Given the description of an element on the screen output the (x, y) to click on. 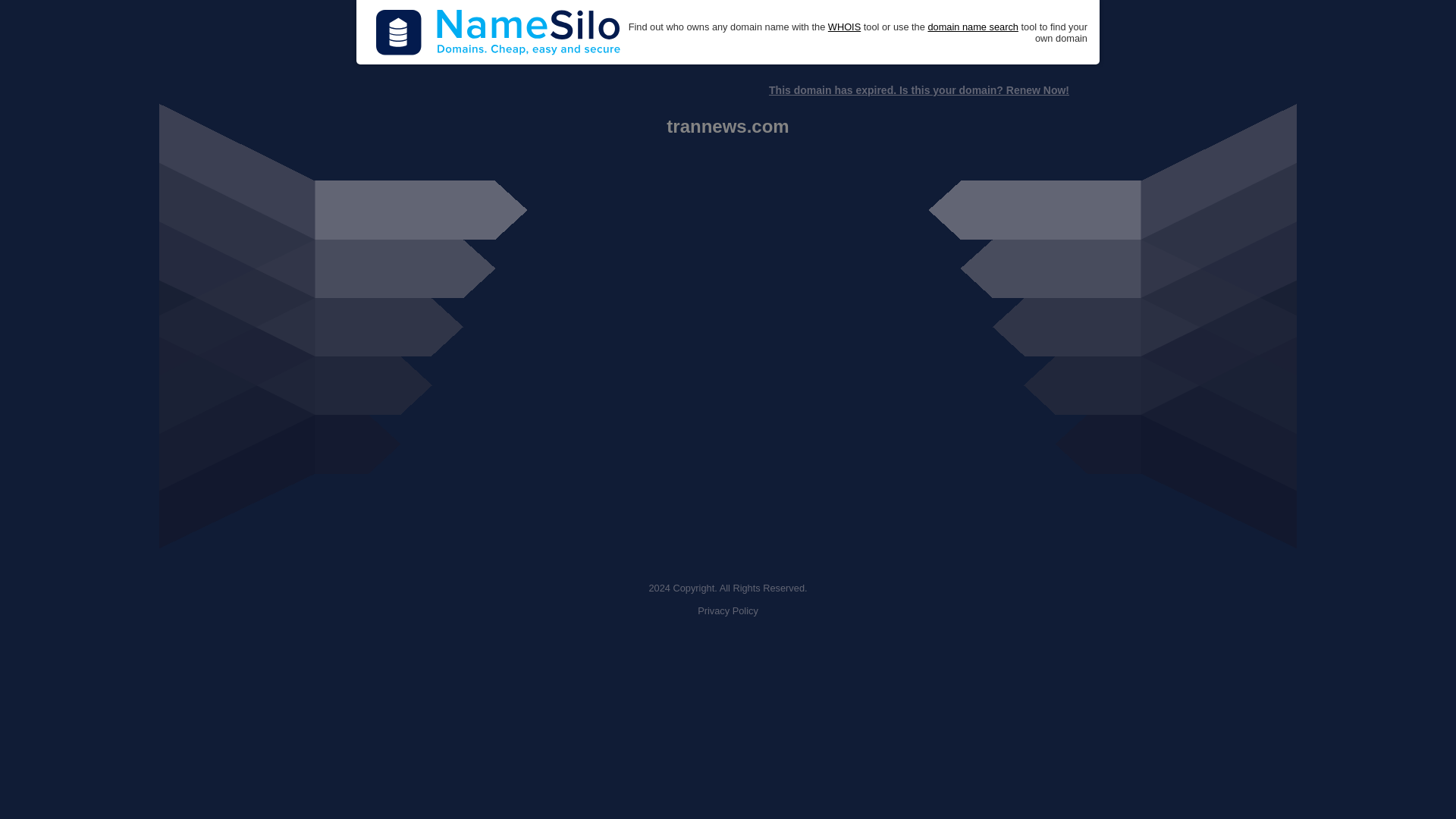
domain name search (972, 26)
This domain has expired. Is this your domain? Renew Now! (918, 90)
Privacy Policy (727, 610)
WHOIS (844, 26)
